Given the description of an element on the screen output the (x, y) to click on. 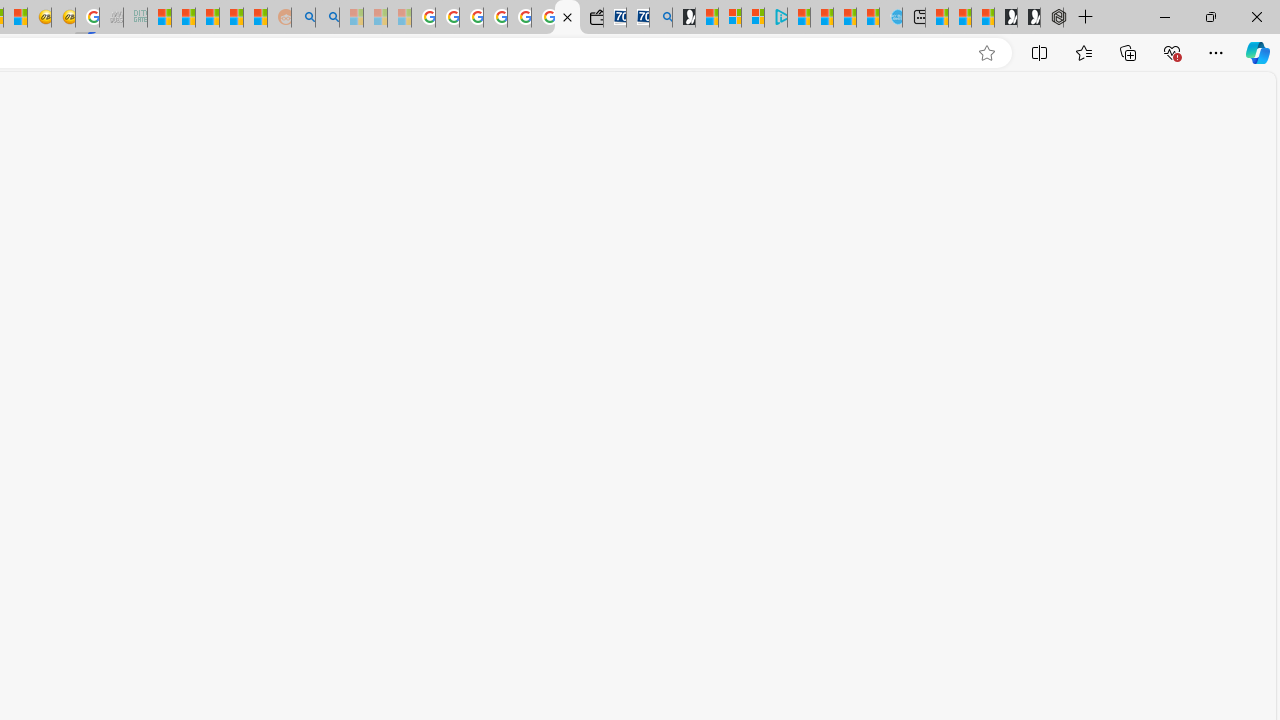
Bing Real Estate - Home sales and rental listings (660, 17)
Utah sues federal government - Search (327, 17)
Home | Sky Blue Bikes - Sky Blue Bikes (890, 17)
Cheap Car Rentals - Save70.com (637, 17)
Microsoft account | Privacy (753, 17)
Student Loan Update: Forgiveness Program Ends This Month (231, 17)
